Given the description of an element on the screen output the (x, y) to click on. 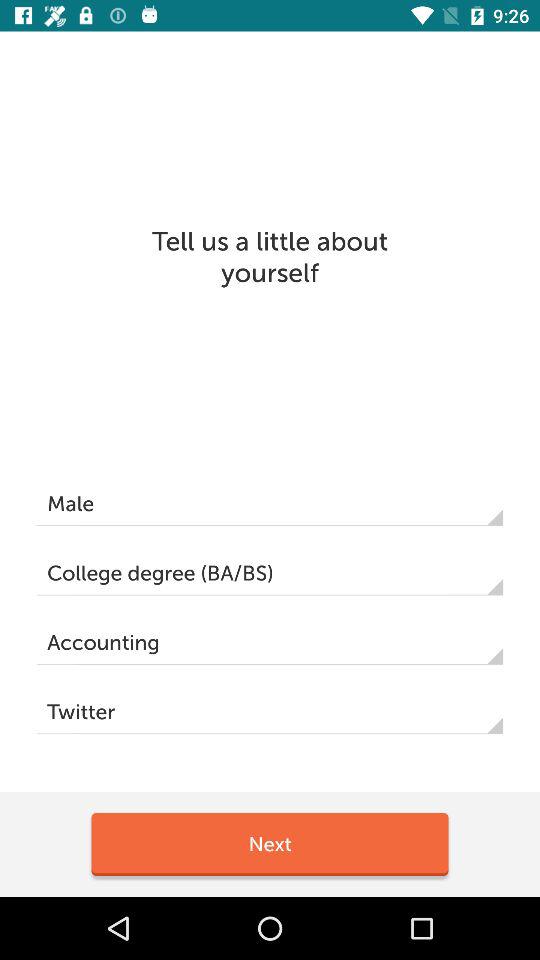
launch the next icon (269, 844)
